Given the description of an element on the screen output the (x, y) to click on. 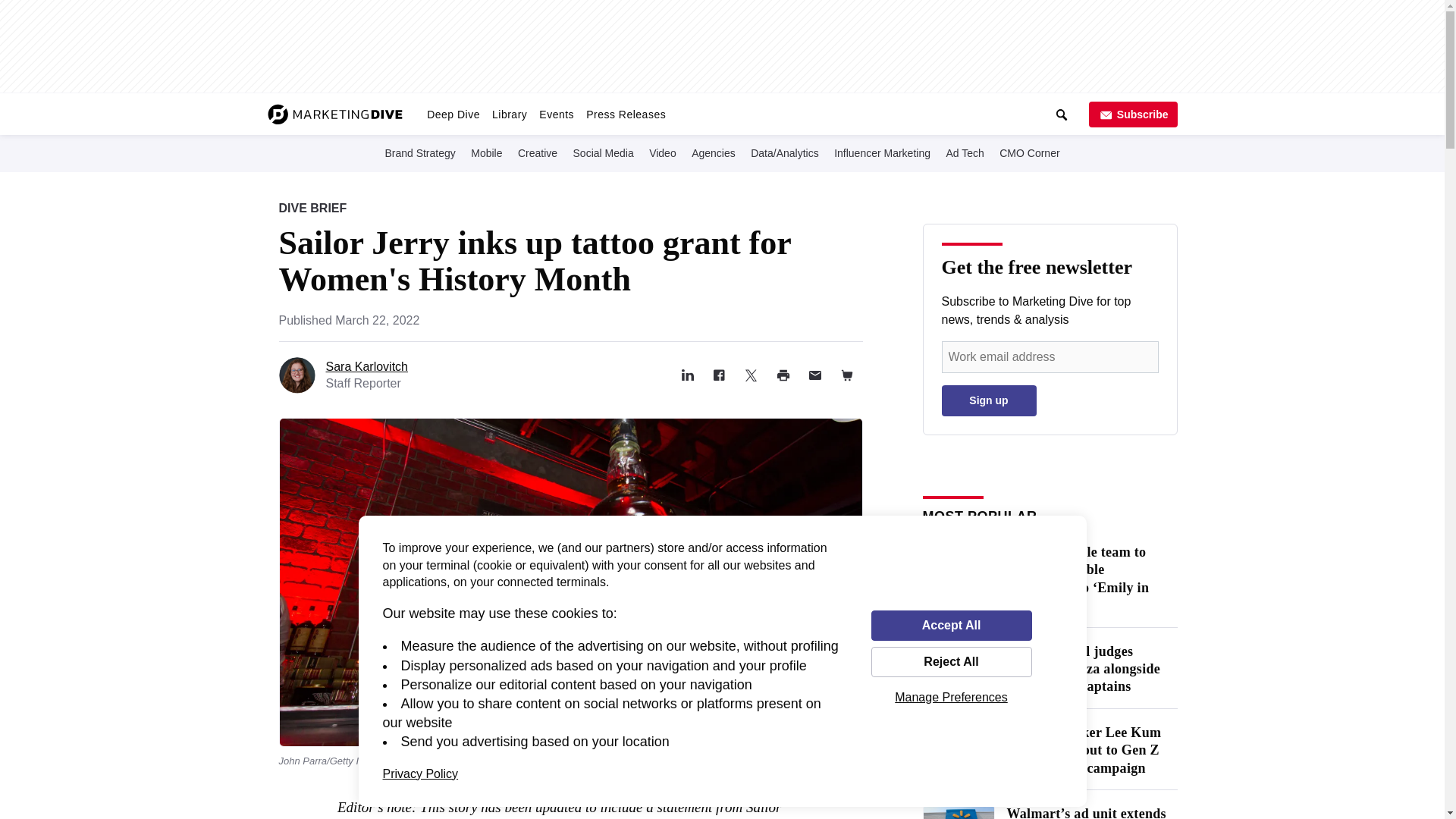
CMO Corner (1028, 152)
Privacy Policy (419, 773)
Accept All (950, 625)
Reject All (950, 662)
Press Releases (625, 114)
Agencies (713, 152)
Library (509, 114)
Manage Preferences (950, 697)
Creative (537, 152)
Influencer Marketing (882, 152)
